Given the description of an element on the screen output the (x, y) to click on. 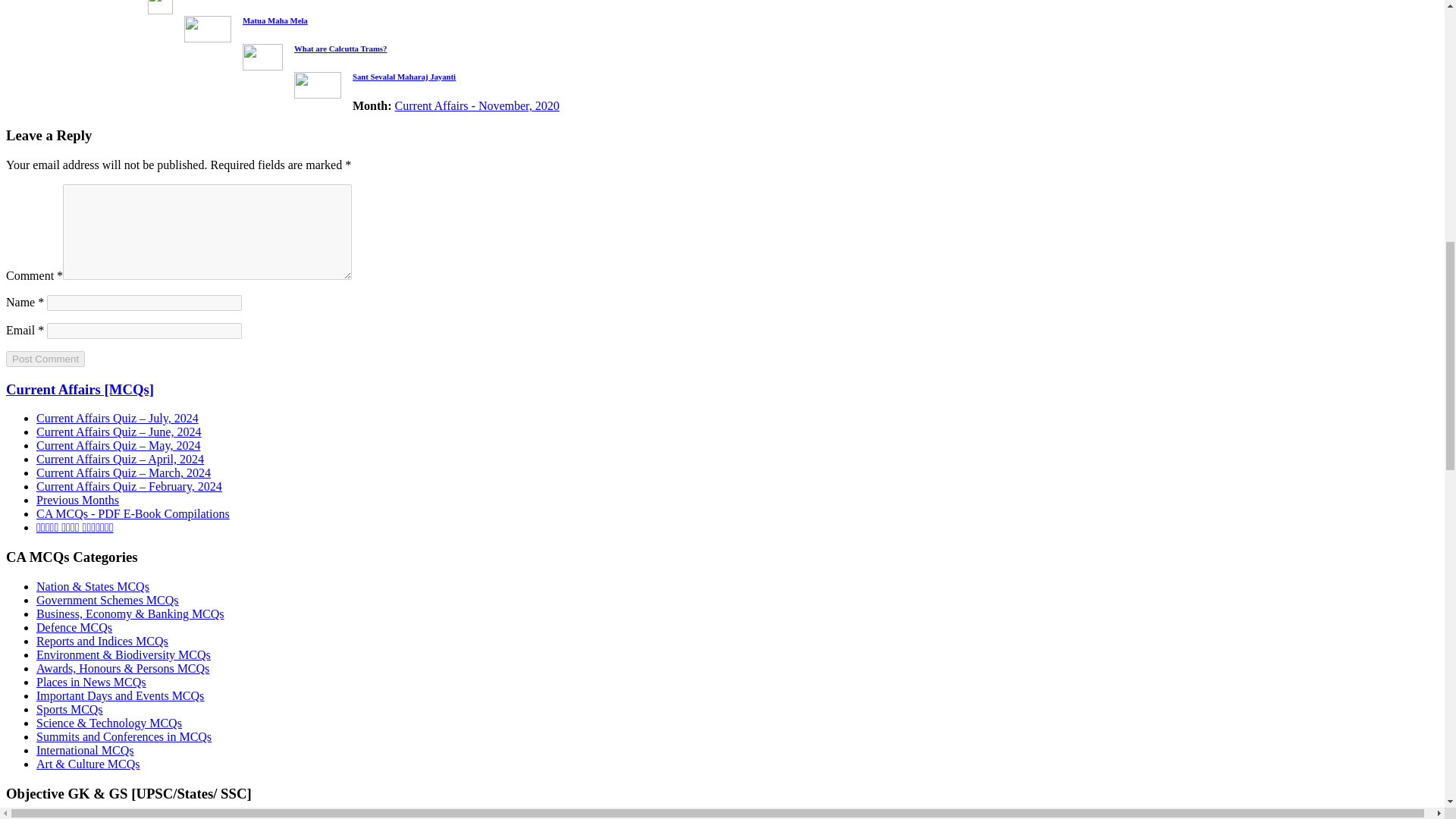
Matua Maha Mela (275, 20)
Previous Months (77, 499)
Matua Maha Mela (275, 20)
Reports and Indices MCQs (102, 640)
Post Comment (44, 358)
Post Comment (44, 358)
Current Affairs - November, 2020 (476, 105)
CA MCQs - PDF E-Book Compilations (133, 513)
What are Calcutta Trams? (340, 48)
Sant Sevalal Maharaj Jayanti (403, 75)
Sant Sevalal Maharaj Jayanti (403, 75)
What are Calcutta Trams? (340, 48)
Government Schemes MCQs (107, 599)
Defence MCQs (74, 626)
